Given the description of an element on the screen output the (x, y) to click on. 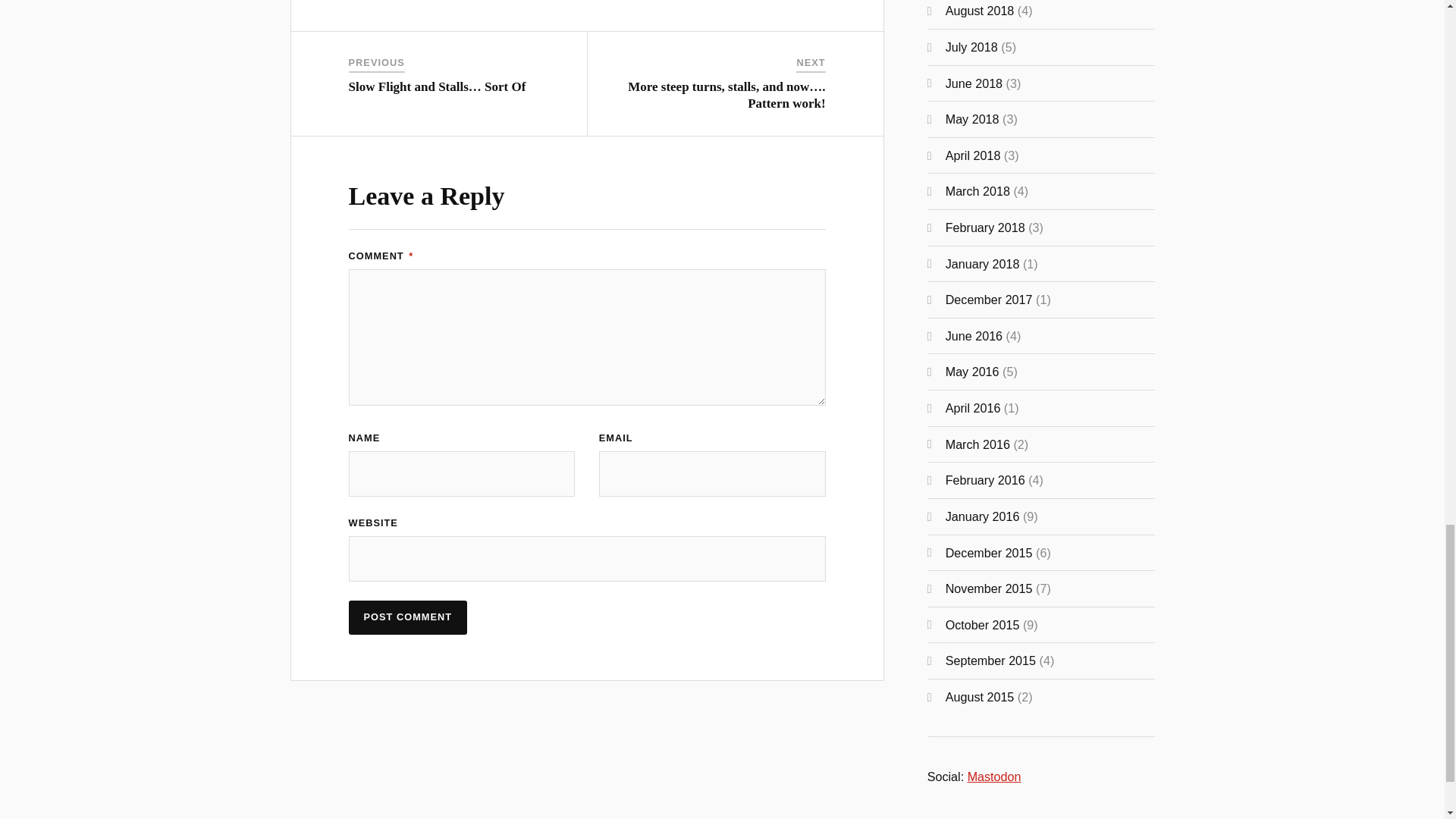
Post Comment (408, 617)
August 2018 (979, 10)
Post Comment (408, 617)
